Given the description of an element on the screen output the (x, y) to click on. 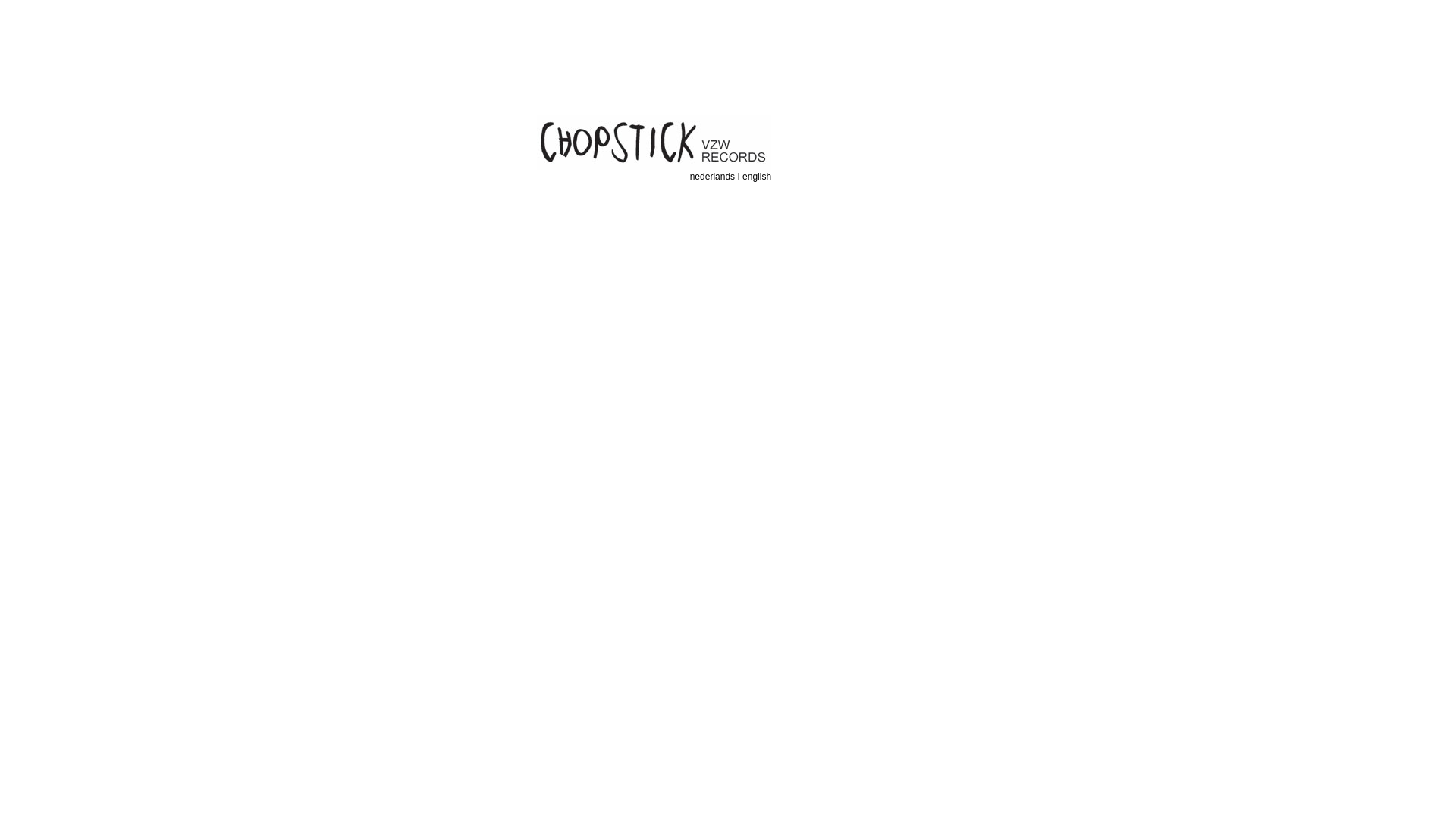
english Element type: text (756, 176)
nederlands Element type: text (713, 176)
